Given the description of an element on the screen output the (x, y) to click on. 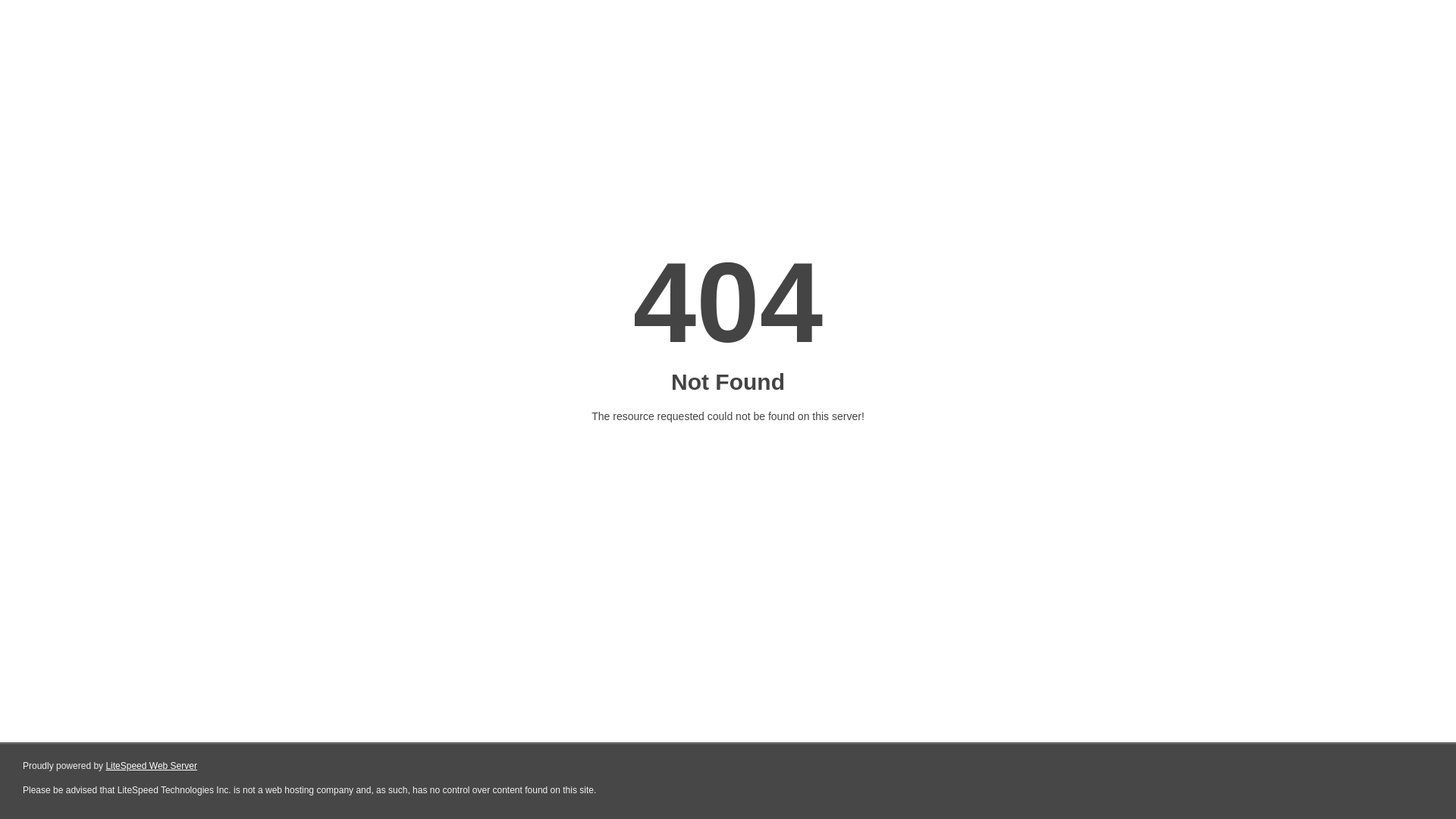
LiteSpeed Web Server Element type: text (151, 765)
